Given the description of an element on the screen output the (x, y) to click on. 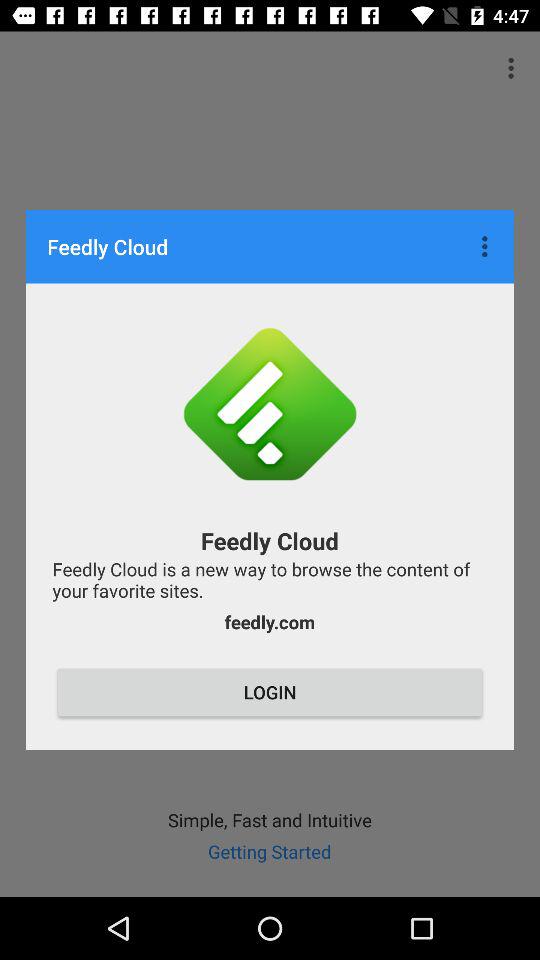
tap the item above feedly cloud is icon (487, 246)
